Given the description of an element on the screen output the (x, y) to click on. 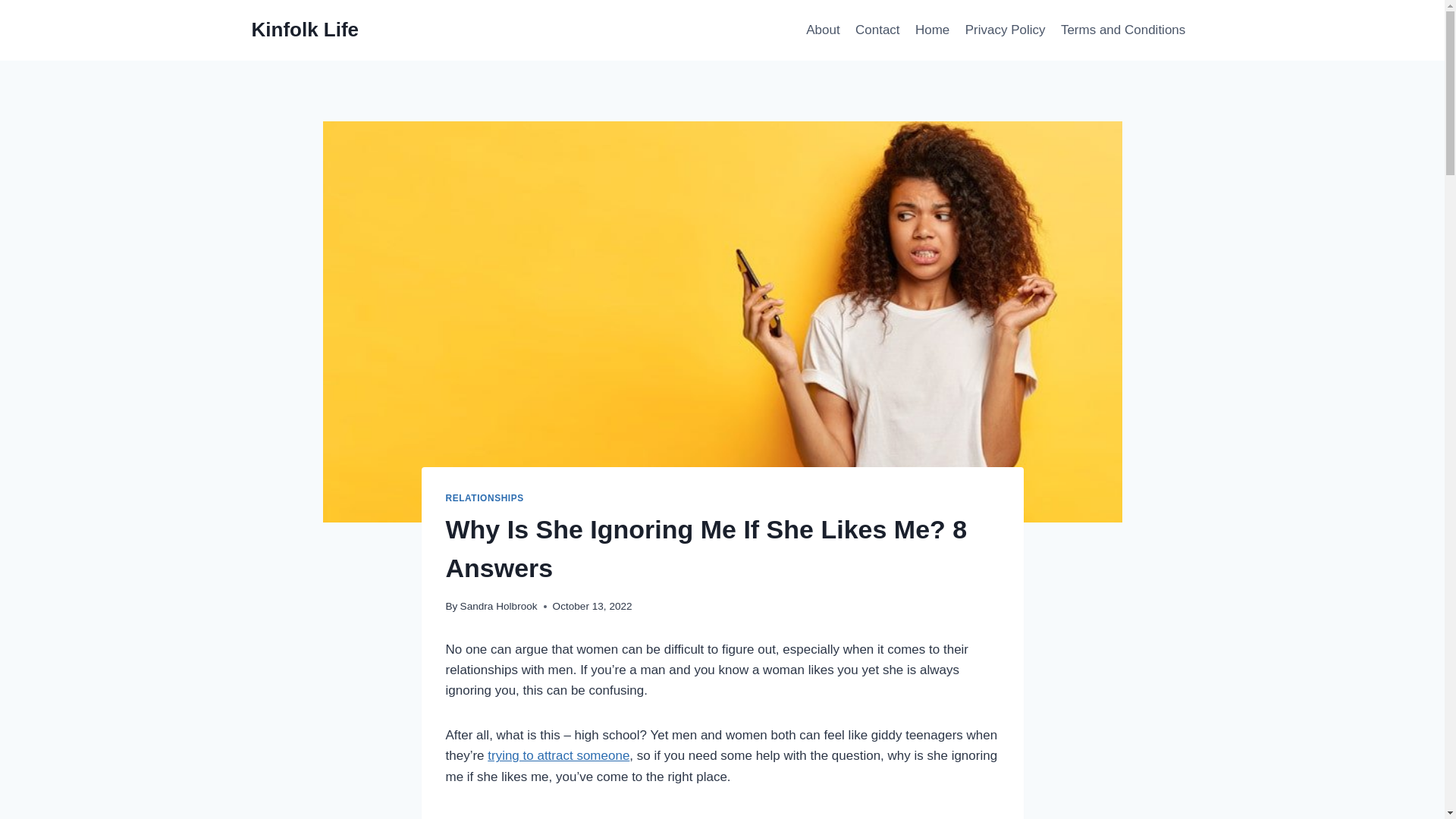
Privacy Policy (1005, 30)
Relationships (484, 498)
Home (932, 30)
Kinfolk Life (305, 29)
Contact (877, 30)
Home (932, 30)
RELATIONSHIPS (484, 498)
Privacy Policy (1005, 30)
Sandra Holbrook (498, 605)
Terms and Conditions (1122, 30)
